Given the description of an element on the screen output the (x, y) to click on. 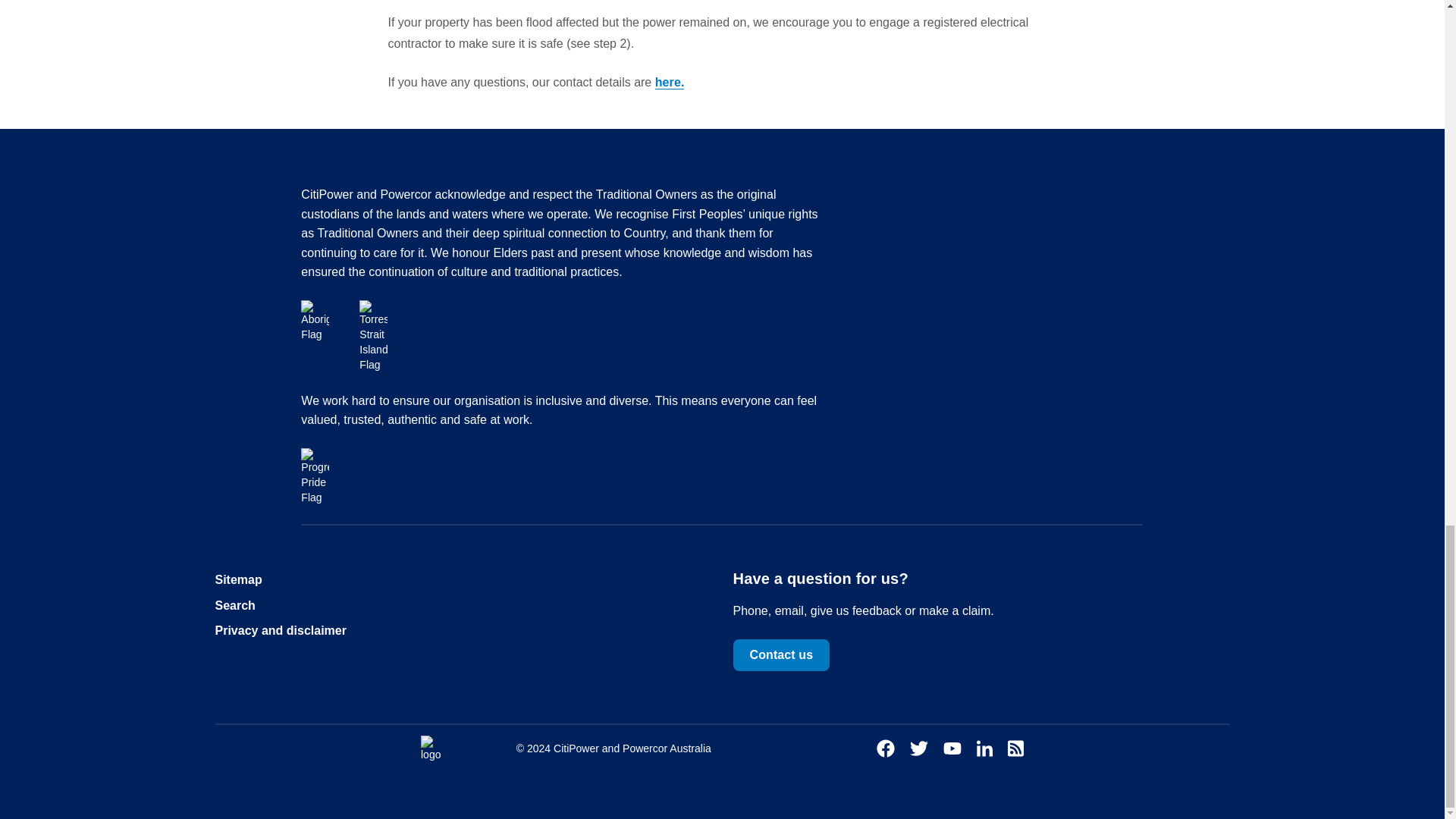
Find us on Twitter (919, 748)
Find us on LinkedIn (984, 748)
Find us Youtube (951, 748)
RSS (1015, 748)
Find us on Facebook (885, 748)
